Given the description of an element on the screen output the (x, y) to click on. 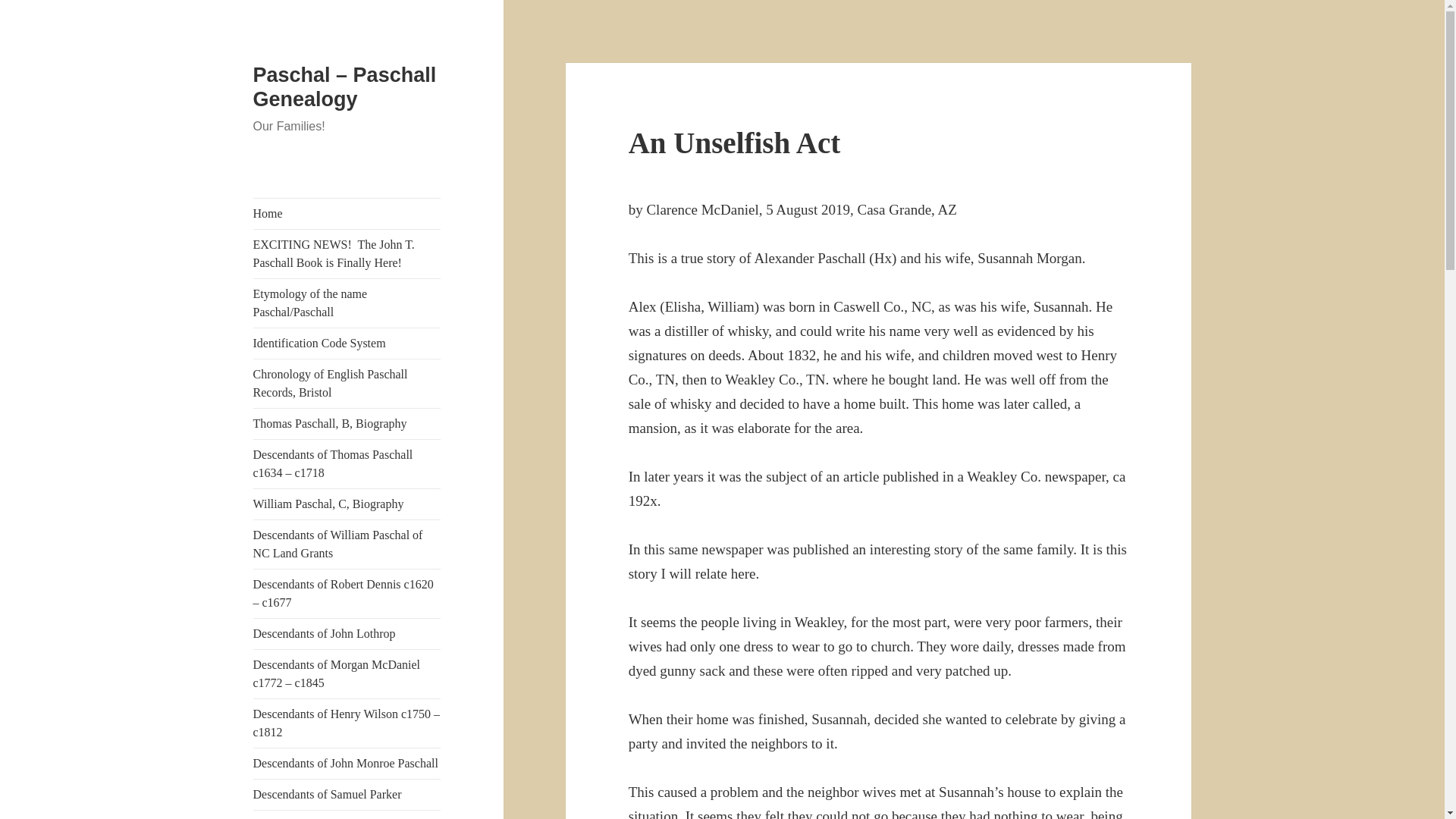
Home (347, 214)
Descendants of John Monroe Paschall (347, 763)
Descendants of Samuel Parker (347, 794)
EXCITING NEWS!  The John T. Paschall Book is Finally Here! (347, 254)
William Paschal, C, Biography (347, 503)
Thomas Paschall, B, Biography (347, 423)
The Work of Clarence McDaniel (347, 814)
Descendants of John Lothrop (347, 634)
Chronology of English Paschall Records, Bristol (347, 383)
Identification Code System (347, 343)
